Given the description of an element on the screen output the (x, y) to click on. 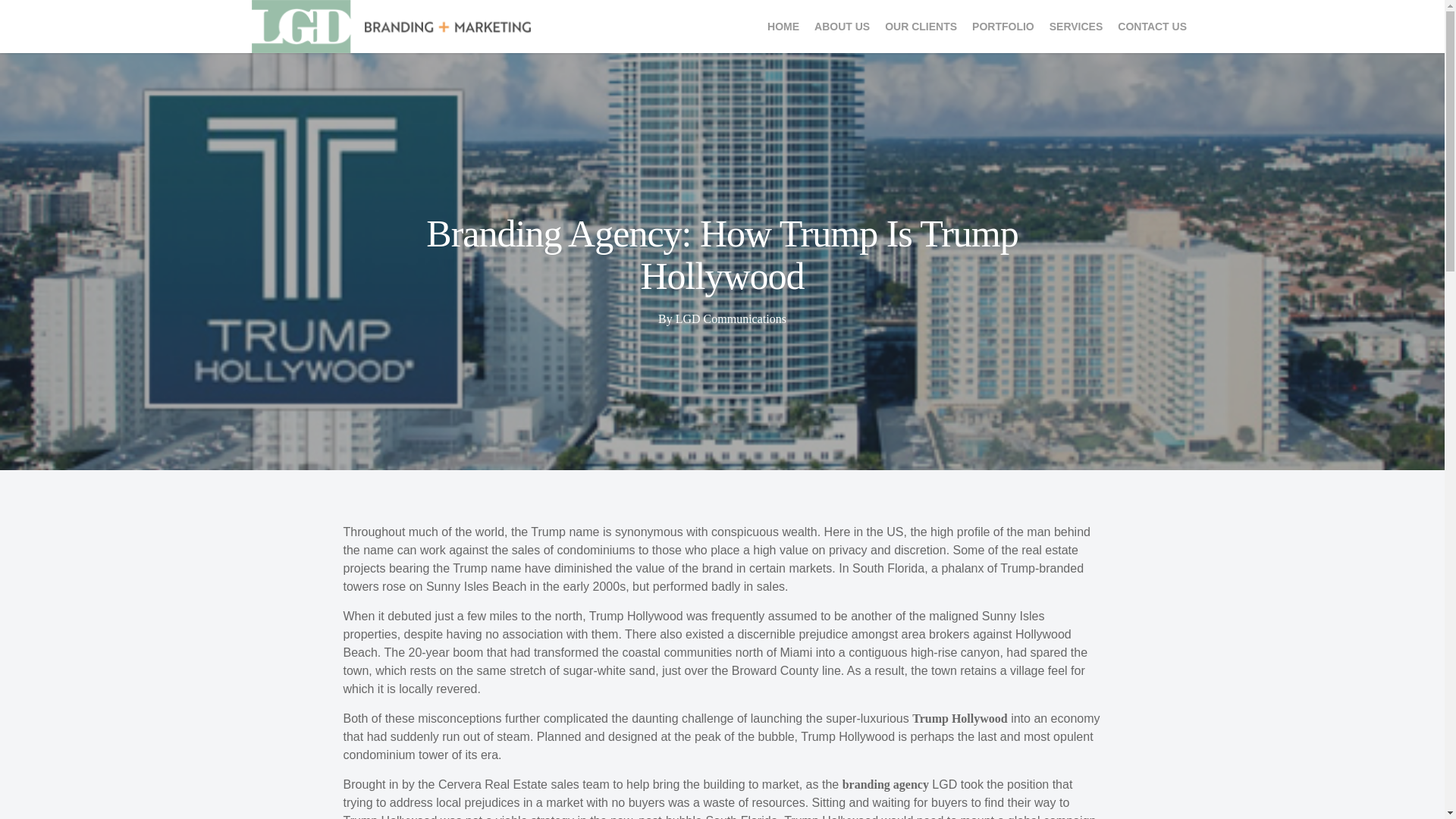
SERVICES (1076, 26)
CONTACT US (1151, 26)
ABOUT US (841, 26)
OUR CLIENTS (920, 26)
PORTFOLIO (1002, 26)
HOME (783, 26)
LGD Communications (730, 318)
Posts by LGD Communications (730, 318)
